Given the description of an element on the screen output the (x, y) to click on. 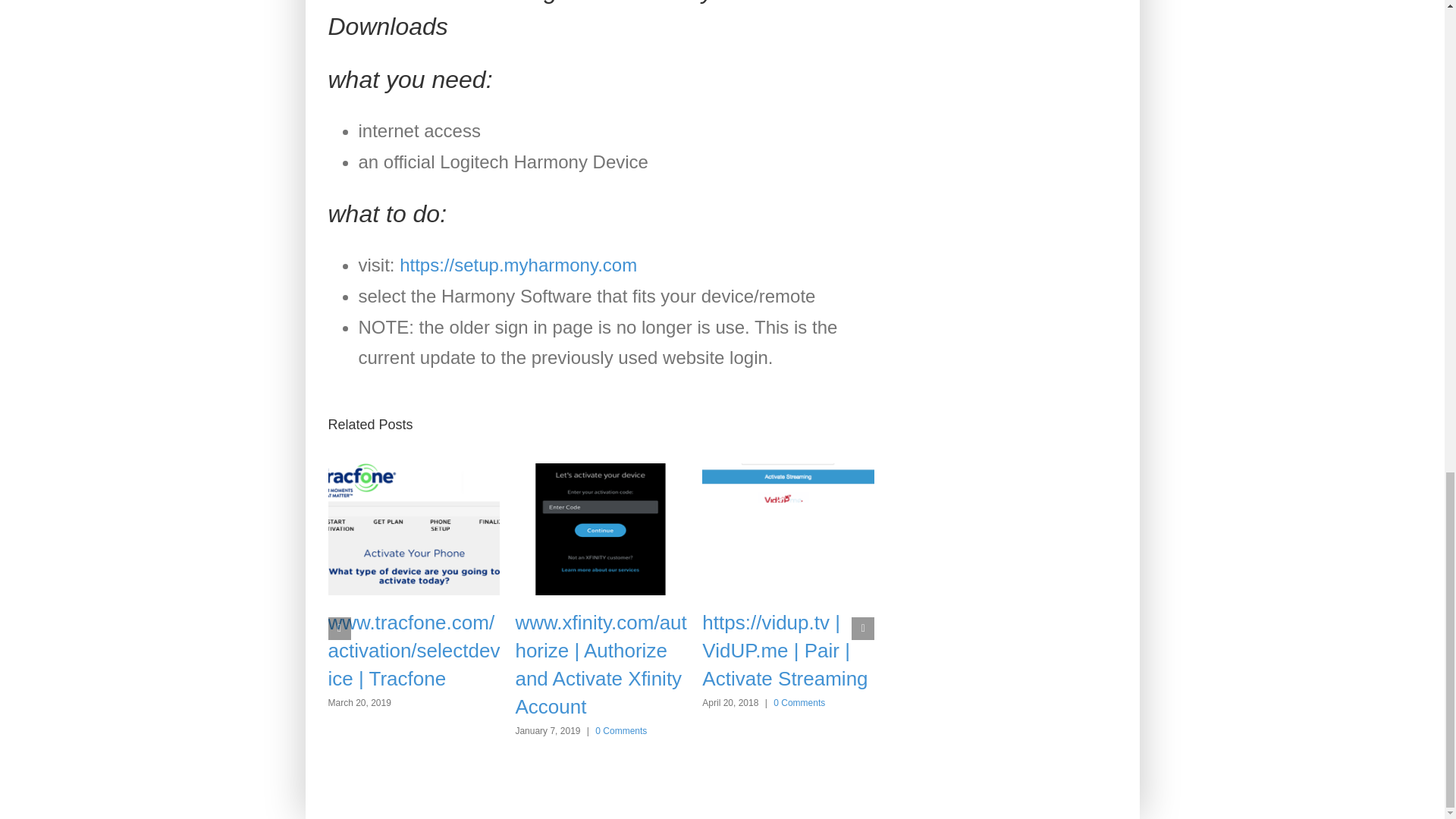
0 Comments (799, 702)
0 Comments (620, 730)
